Given the description of an element on the screen output the (x, y) to click on. 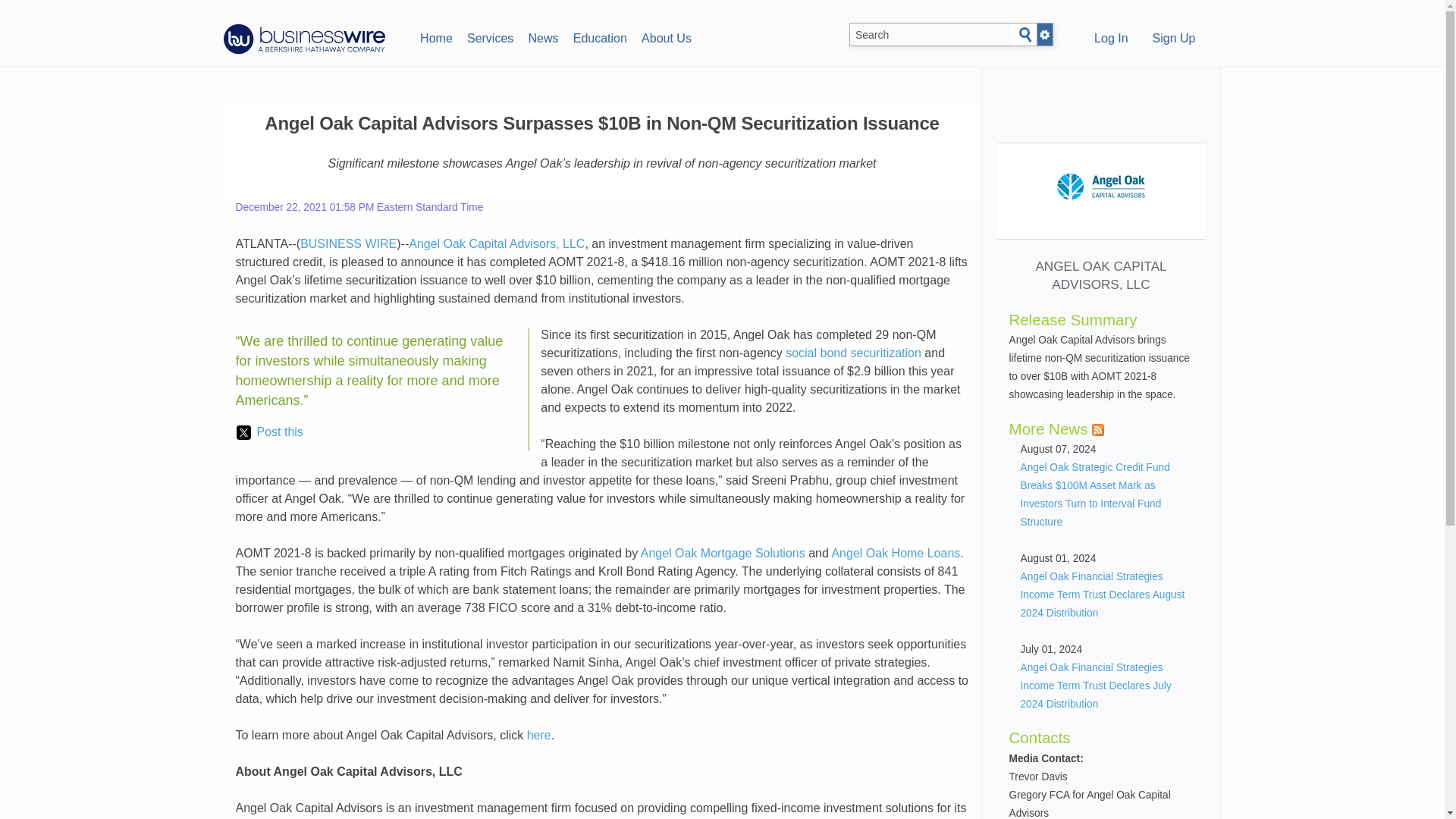
Angel Oak Home Loans (895, 553)
Angel Oak Mortgage Solutions (722, 553)
Angel Oak Capital Advisors, LLC (497, 243)
Search (1025, 34)
Post this (269, 431)
BUSINESS WIRE (347, 243)
Search BusinessWire.com (930, 34)
here (539, 735)
Education (599, 36)
News (543, 36)
